Given the description of an element on the screen output the (x, y) to click on. 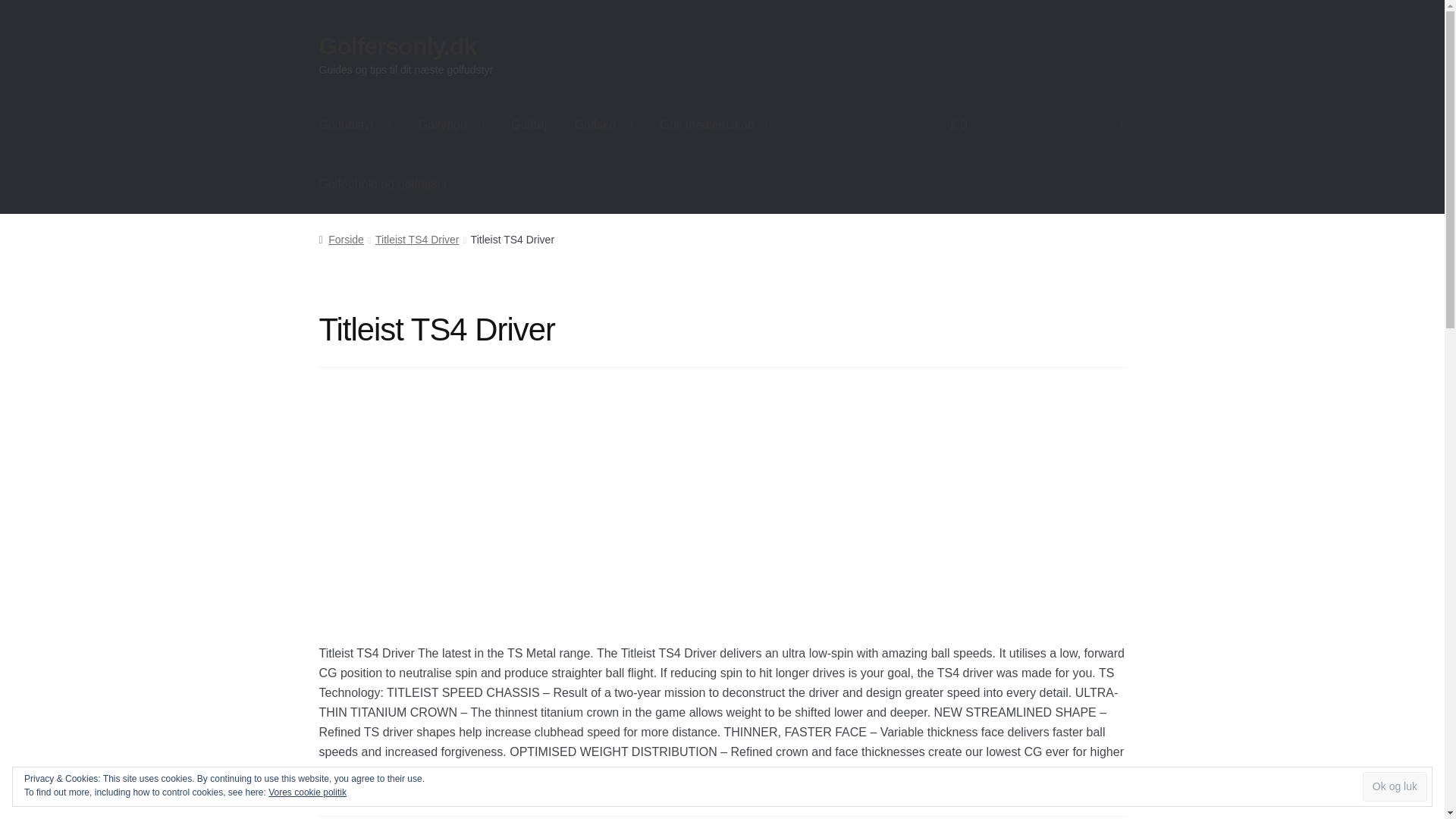
Golfsko (603, 124)
Golfvogn (451, 124)
Golf medlemskab (715, 124)
Golfersonly.dk (397, 45)
Golfophold og golfrejser (392, 183)
Vis kurv (1037, 124)
Ok og luk (1394, 786)
Golfudstyr (355, 124)
